Given the description of an element on the screen output the (x, y) to click on. 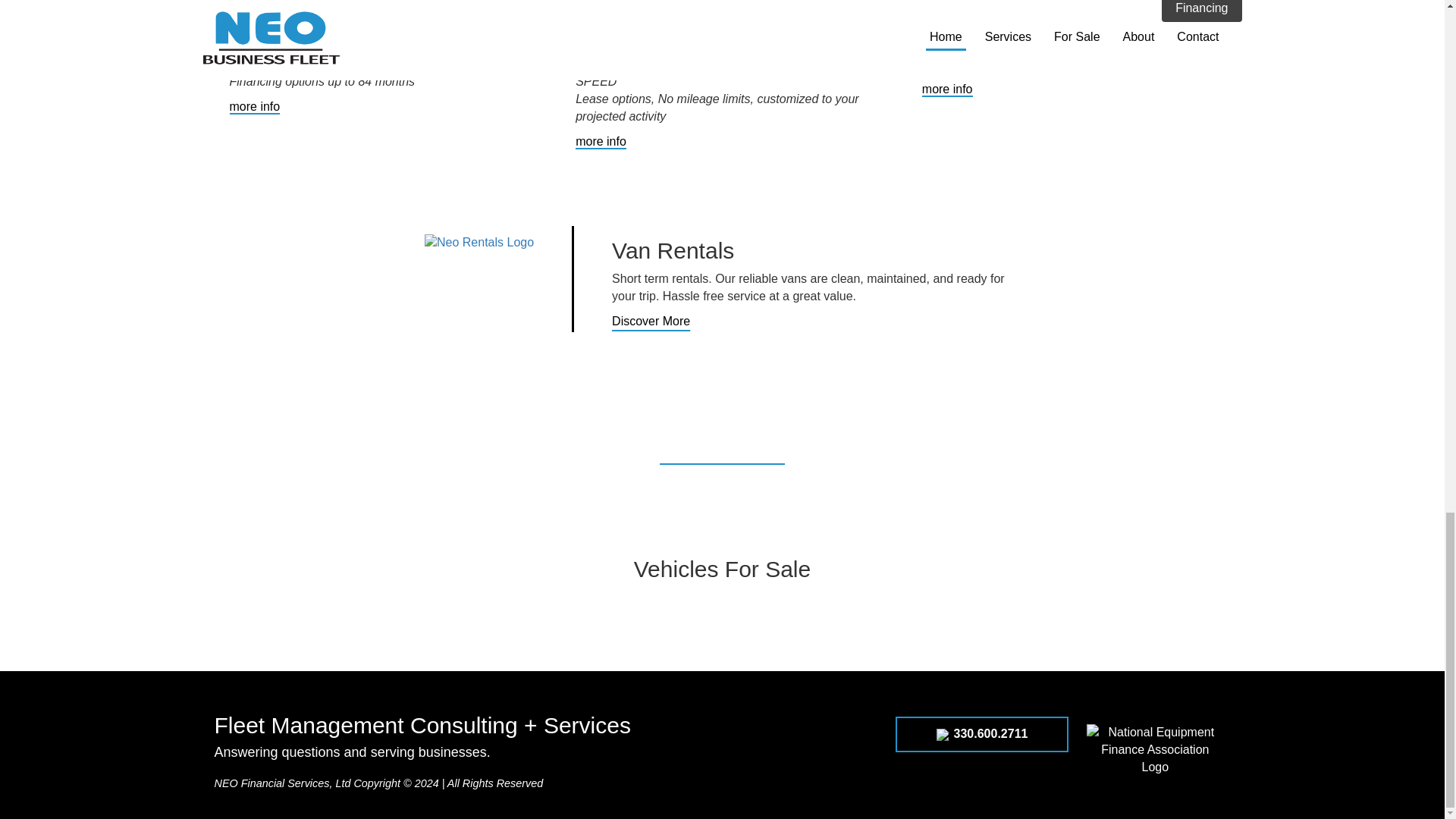
Discover what we offer. (721, 457)
more info (946, 89)
more info (253, 106)
more info (600, 142)
Discover More (650, 320)
330.600.2711 (981, 733)
